Given the description of an element on the screen output the (x, y) to click on. 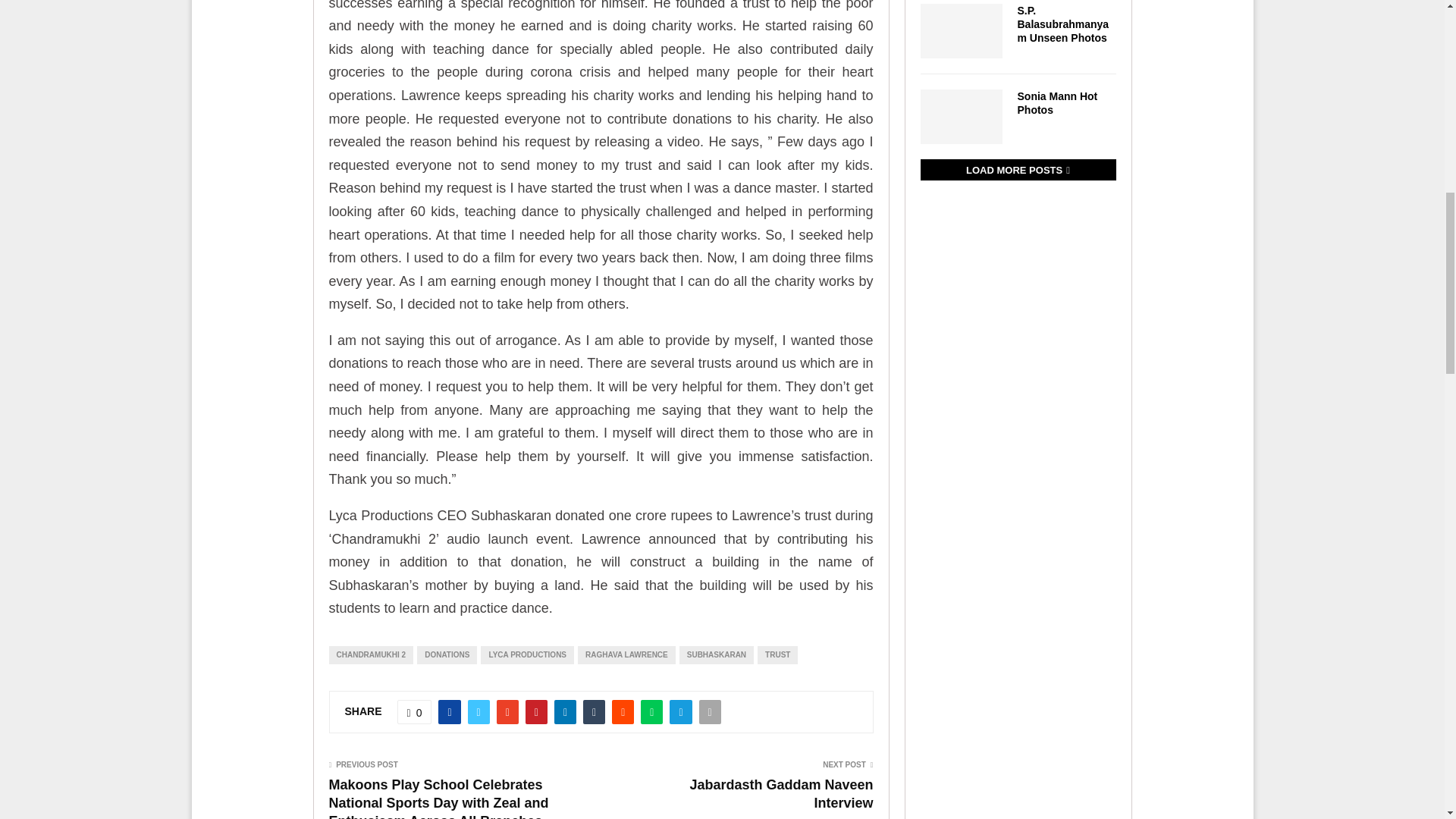
CHANDRAMUKHI 2 (371, 655)
LYCA PRODUCTIONS (526, 655)
Like (414, 711)
DONATIONS (446, 655)
0 (414, 711)
SUBHASKARAN (716, 655)
RAGHAVA LAWRENCE (626, 655)
TRUST (777, 655)
